Given the description of an element on the screen output the (x, y) to click on. 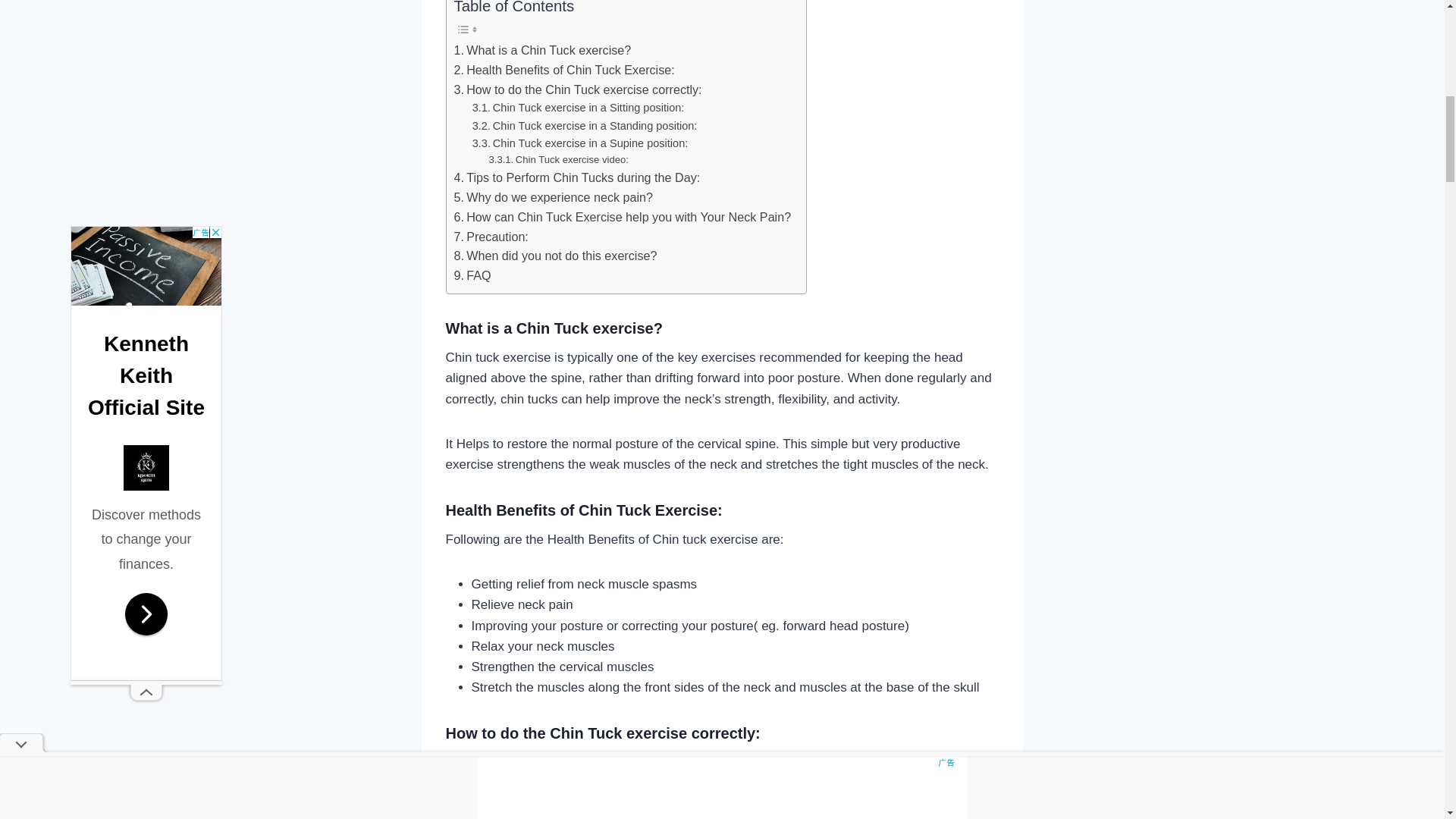
Tips to Perform Chin Tucks during the Day: (576, 178)
How to do the Chin Tuck exercise correctly: (576, 89)
What is a Chin Tuck exercise? (541, 50)
Chin Tuck exercise video: (558, 160)
Chin Tuck exercise in a Sitting position: (577, 108)
How can Chin Tuck Exercise help you with Your Neck Pain? (621, 217)
How to do the Chin Tuck exercise correctly: (576, 89)
Chin Tuck exercise in a Supine position: (579, 143)
Health Benefits of Chin Tuck Exercise: (563, 70)
Chin Tuck exercise in a Sitting position: (577, 108)
